Given the description of an element on the screen output the (x, y) to click on. 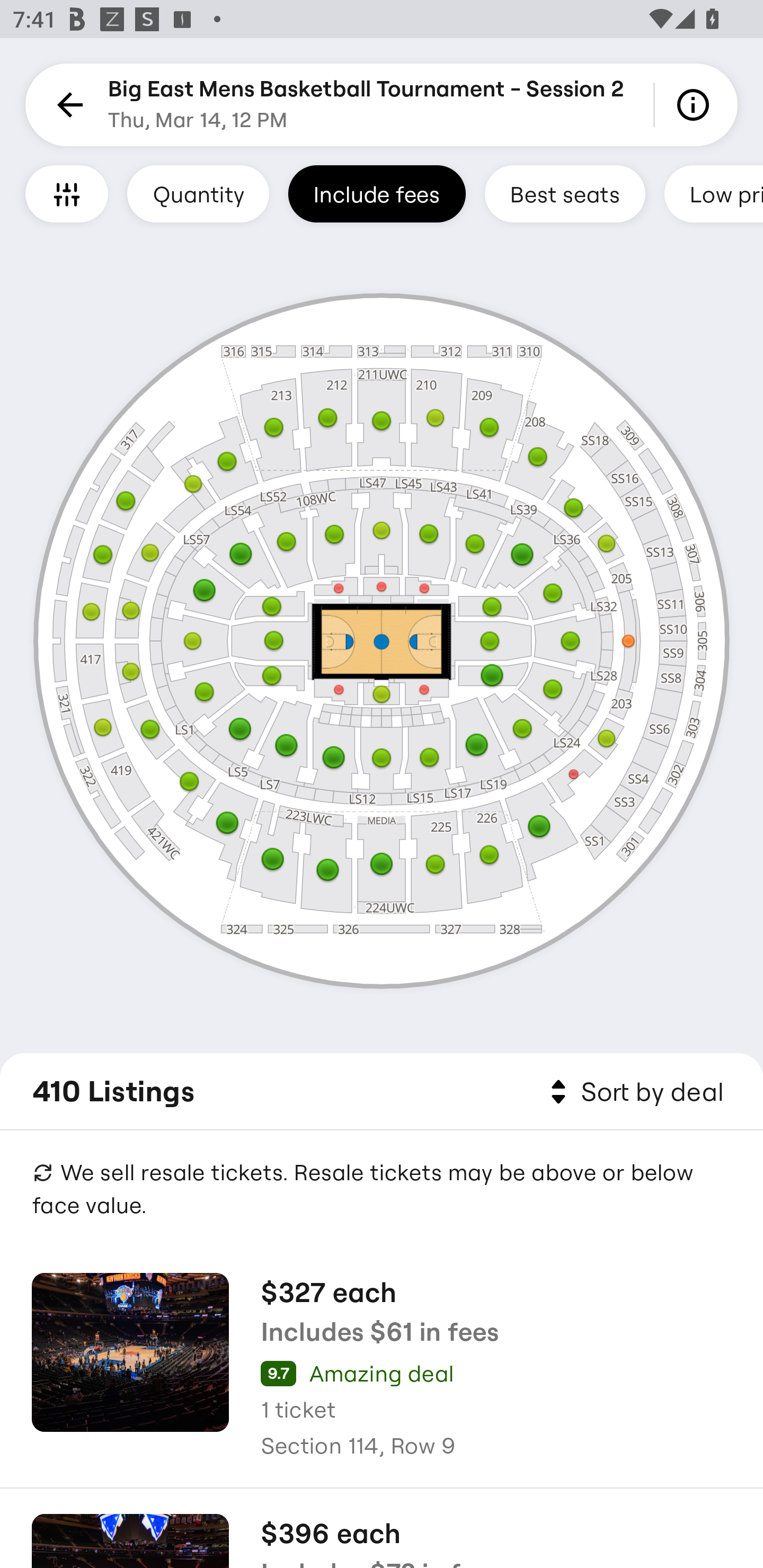
Back (66, 104)
Info (695, 104)
Filters and Accessible Seating (66, 193)
Quantity (198, 193)
Include fees (376, 193)
Best seats (564, 193)
Sort by deal (633, 1091)
